Given the description of an element on the screen output the (x, y) to click on. 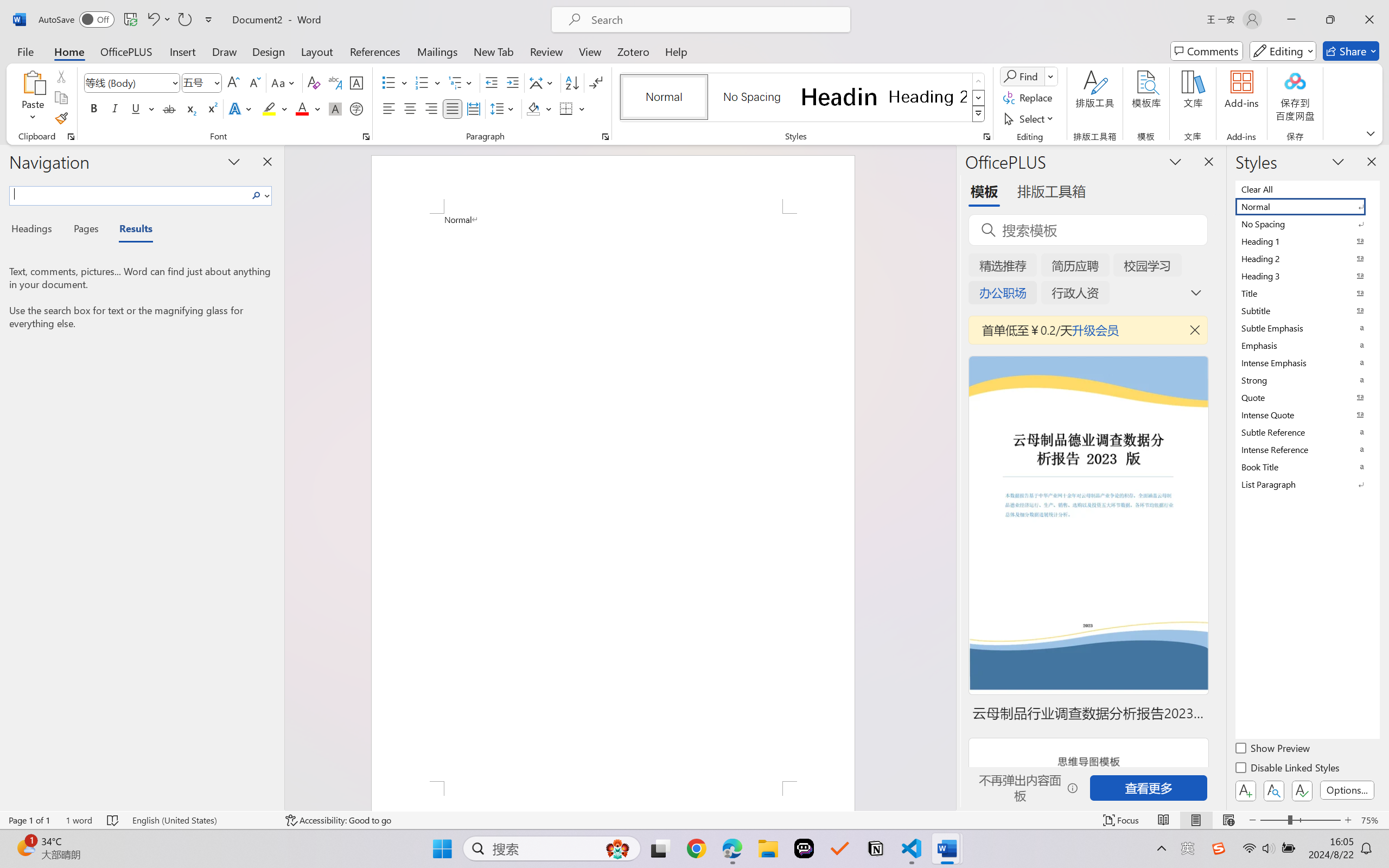
Comments (1206, 50)
Heading 1 (839, 96)
Borders (566, 108)
Shading RGB(0, 0, 0) (533, 108)
Grow Font (233, 82)
OfficePLUS (126, 51)
Mailings (437, 51)
Sort... (571, 82)
Web Layout (1228, 819)
Help (675, 51)
Justify (452, 108)
Cut (60, 75)
